Given the description of an element on the screen output the (x, y) to click on. 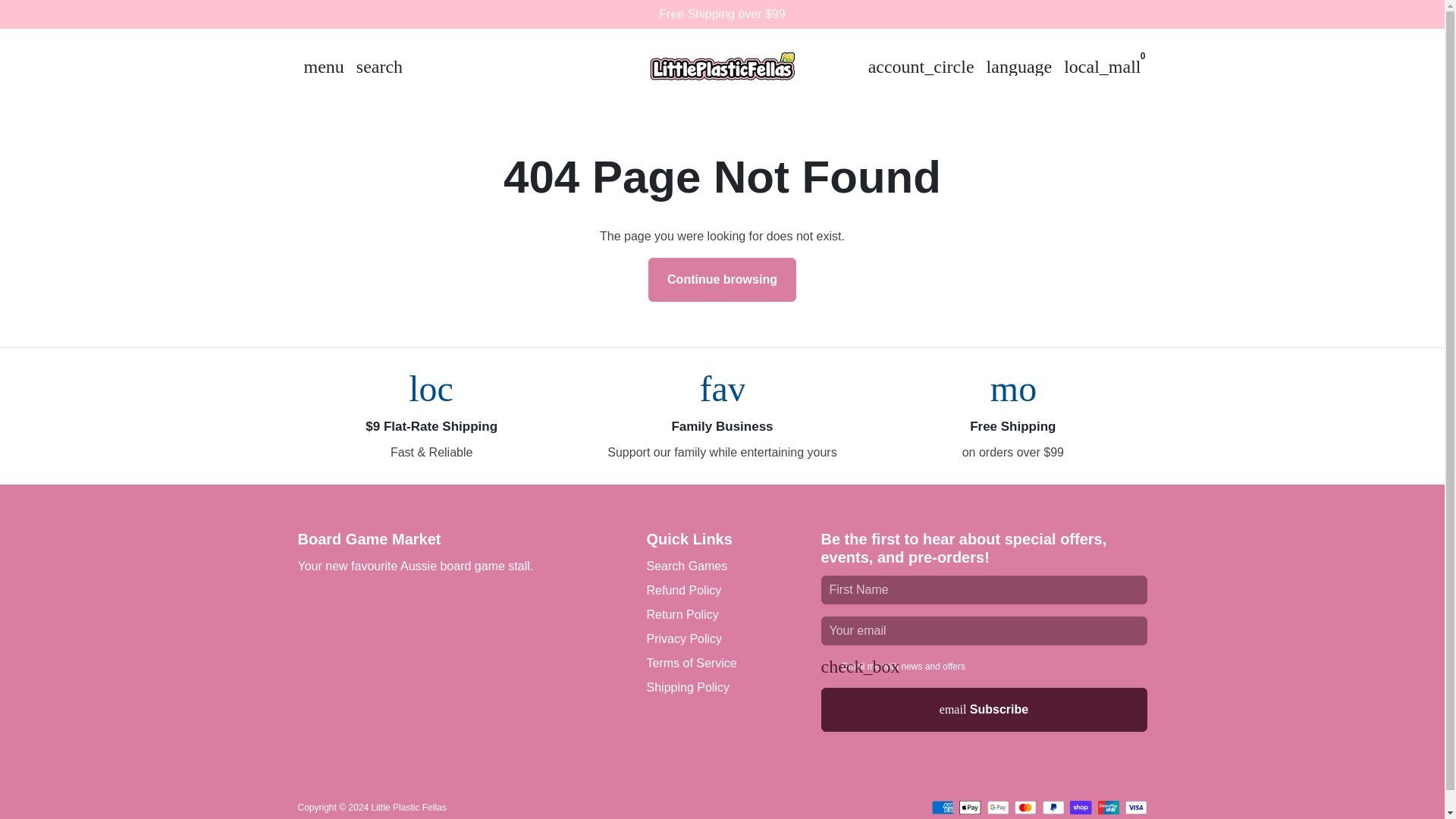
Cart (1102, 66)
Menu (323, 66)
American Express (941, 807)
search (379, 66)
PayPal (1052, 807)
menu (323, 66)
language (1018, 66)
Log In (920, 66)
Search (379, 66)
Apple Pay (970, 807)
Google Pay (998, 807)
Mastercard (1025, 807)
Union Pay (1108, 807)
Visa (1136, 807)
